Given the description of an element on the screen output the (x, y) to click on. 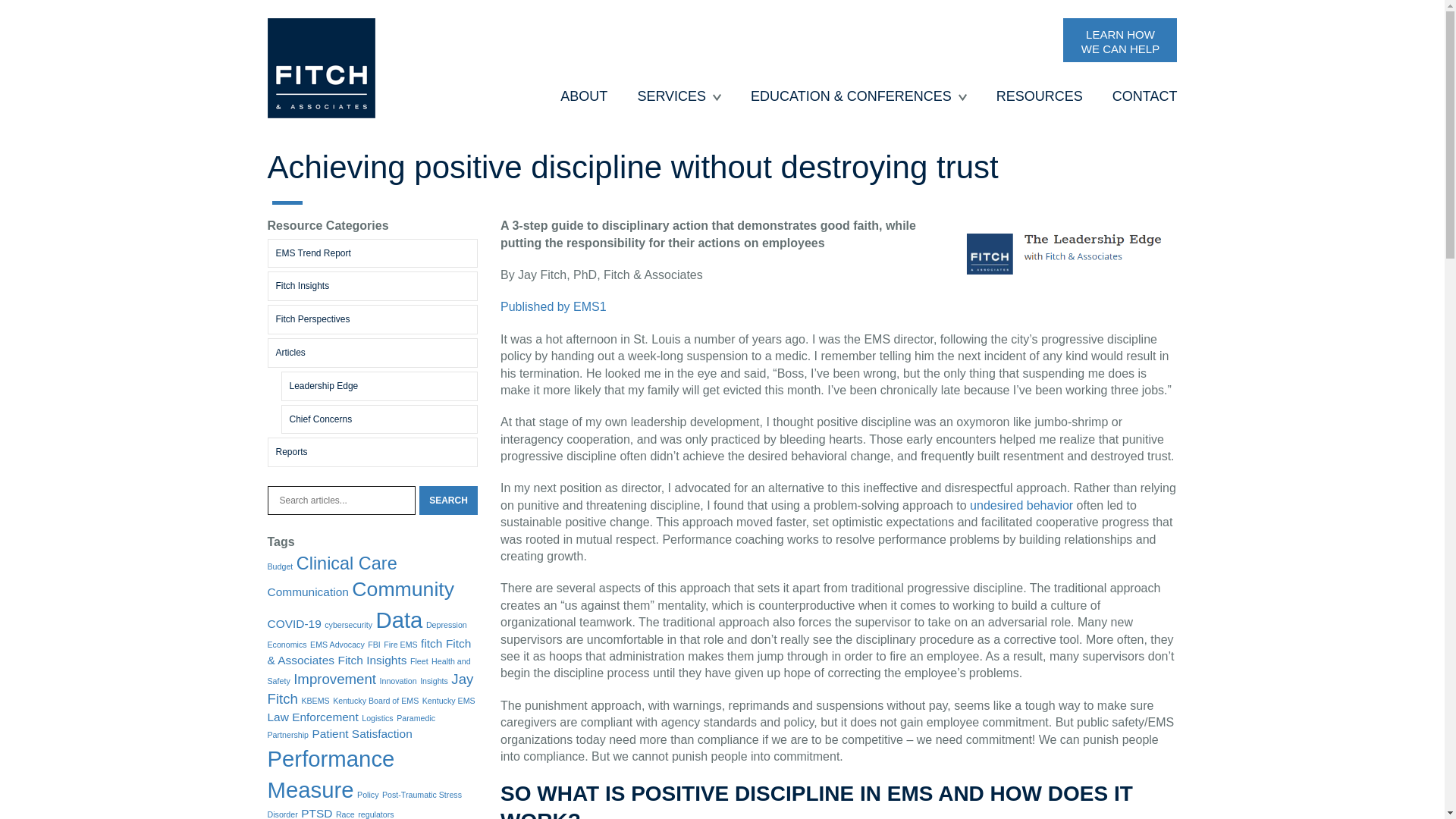
Community (403, 589)
Reports (371, 451)
SEARCH (448, 500)
LEARN HOW WE CAN HELP (1119, 40)
Fitch Insights (371, 286)
Leadership Edge (379, 386)
cybersecurity (348, 624)
Data (398, 619)
Chief Concerns (379, 419)
Clinical Care (347, 563)
CONTACT (1144, 96)
COVID-19 (293, 623)
ABOUT (583, 96)
SERVICES (671, 96)
Budget (279, 565)
